Given the description of an element on the screen output the (x, y) to click on. 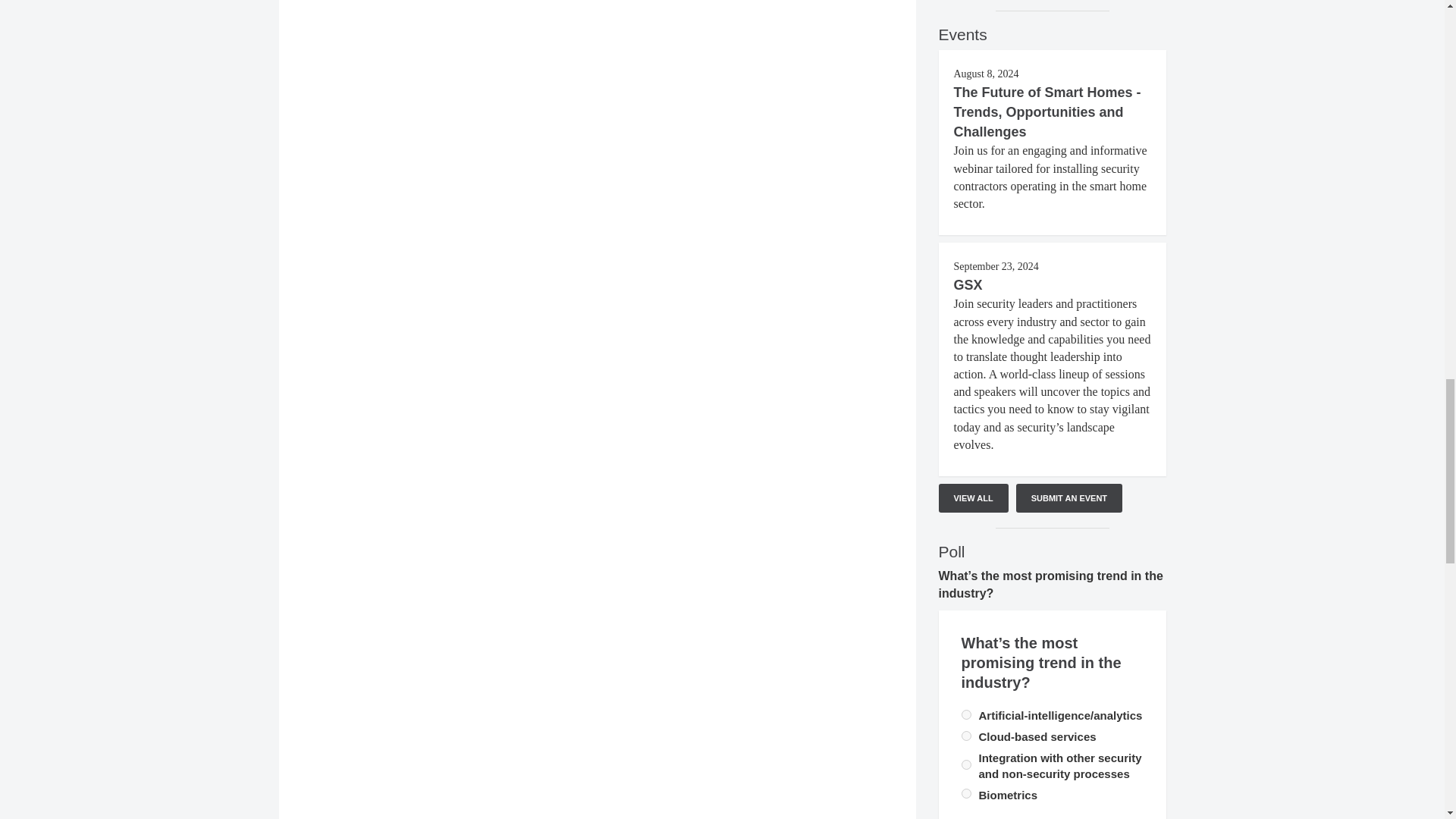
492 (965, 793)
GSX (967, 284)
490 (965, 736)
491 (965, 764)
489 (965, 714)
